Given the description of an element on the screen output the (x, y) to click on. 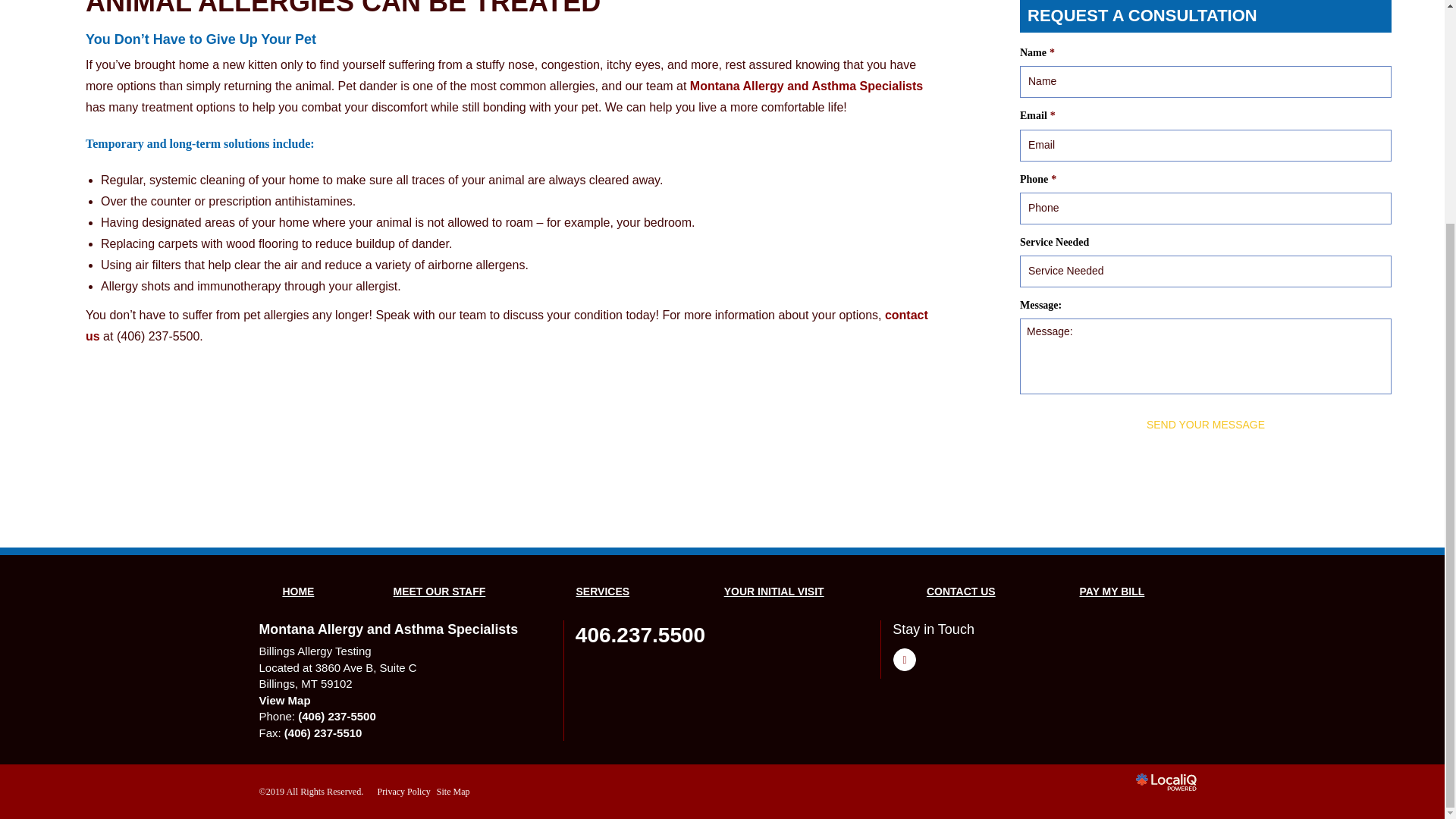
Send Your Message (1205, 425)
Montana Allergy and Asthma Specialists (806, 85)
Send Your Message (1205, 425)
contact us (506, 325)
